Given the description of an element on the screen output the (x, y) to click on. 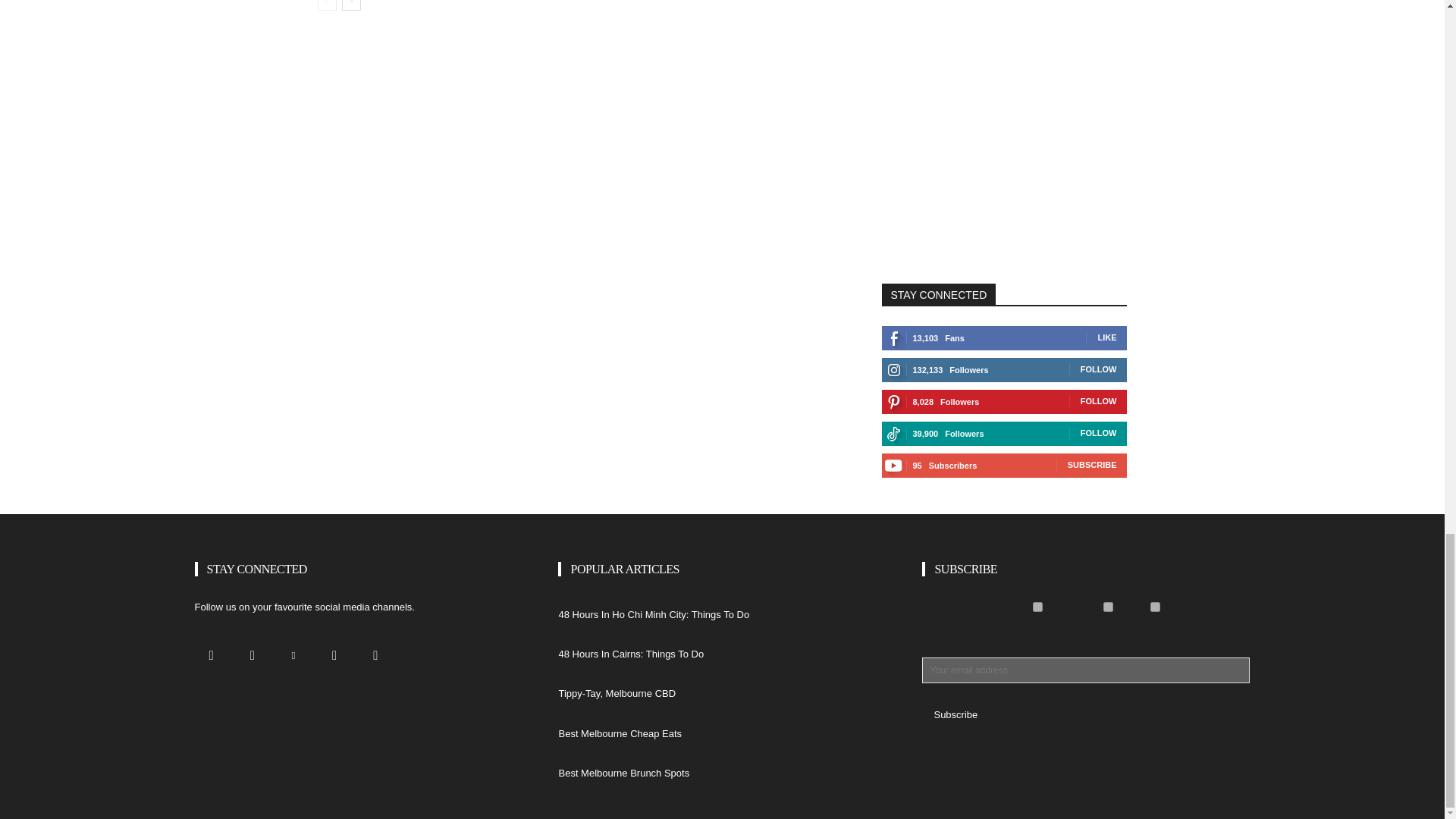
becaa84307 (1037, 606)
aa99556239 (1108, 606)
a995738985 (1155, 606)
Subscribe (954, 714)
